Given the description of an element on the screen output the (x, y) to click on. 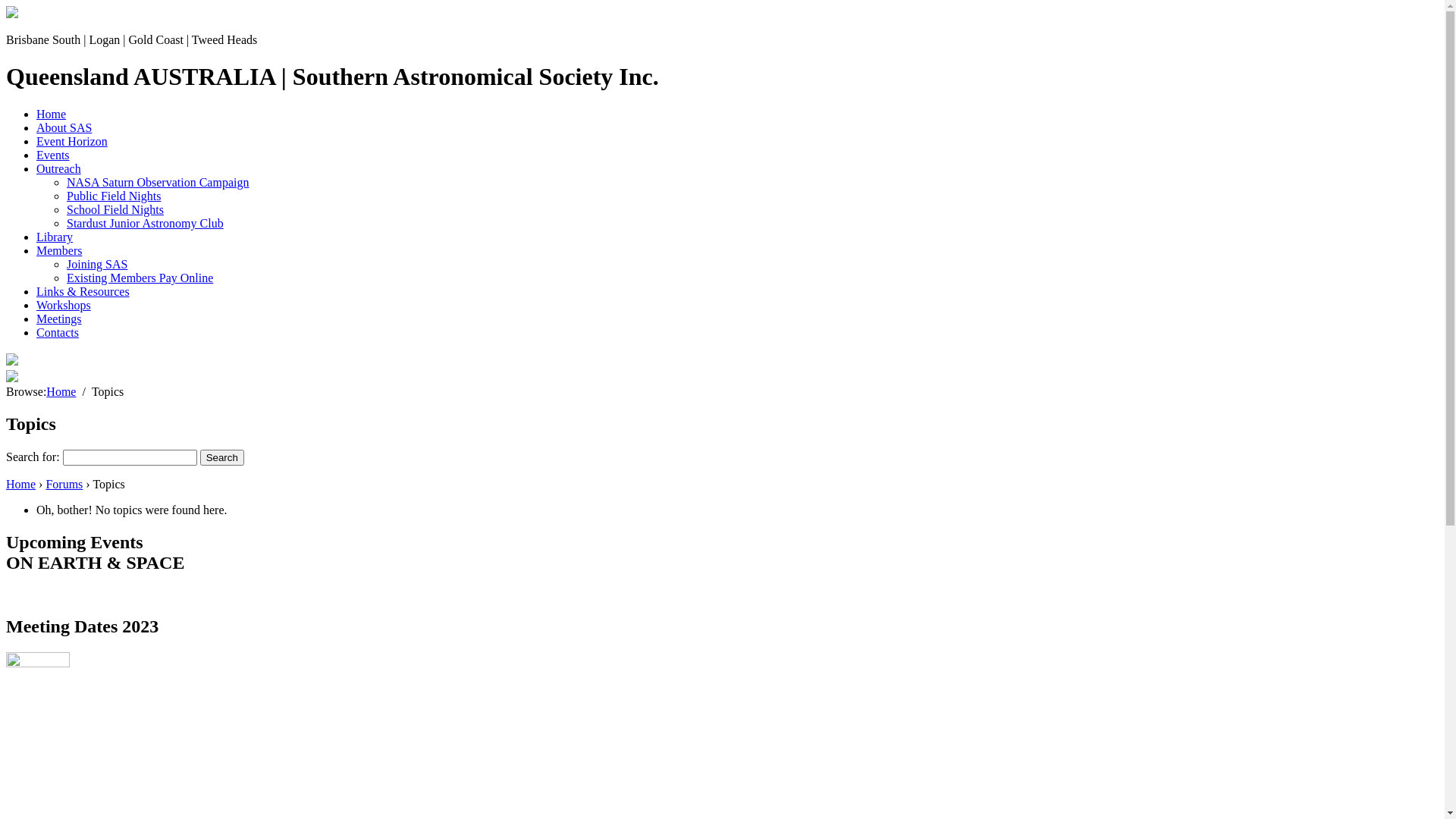
Members Element type: text (58, 250)
Library Element type: text (54, 236)
Joining SAS Element type: text (96, 263)
Links & Resources Element type: text (82, 291)
Home Element type: text (20, 483)
Stardust Junior Astronomy Club Element type: text (144, 222)
Contacts Element type: text (57, 332)
Existing Members Pay Online Element type: text (139, 277)
Workshops Element type: text (63, 304)
Home Element type: text (50, 113)
About SAS Element type: text (63, 127)
Search Element type: text (222, 457)
Public Field Nights Element type: text (113, 195)
Outreach Element type: text (58, 168)
Event Horizon Element type: text (71, 140)
Events Element type: text (52, 154)
Home Element type: text (60, 391)
NASA Saturn Observation Campaign Element type: text (157, 181)
Forums Element type: text (63, 483)
School Field Nights Element type: text (114, 209)
Meetings Element type: text (58, 318)
